Given the description of an element on the screen output the (x, y) to click on. 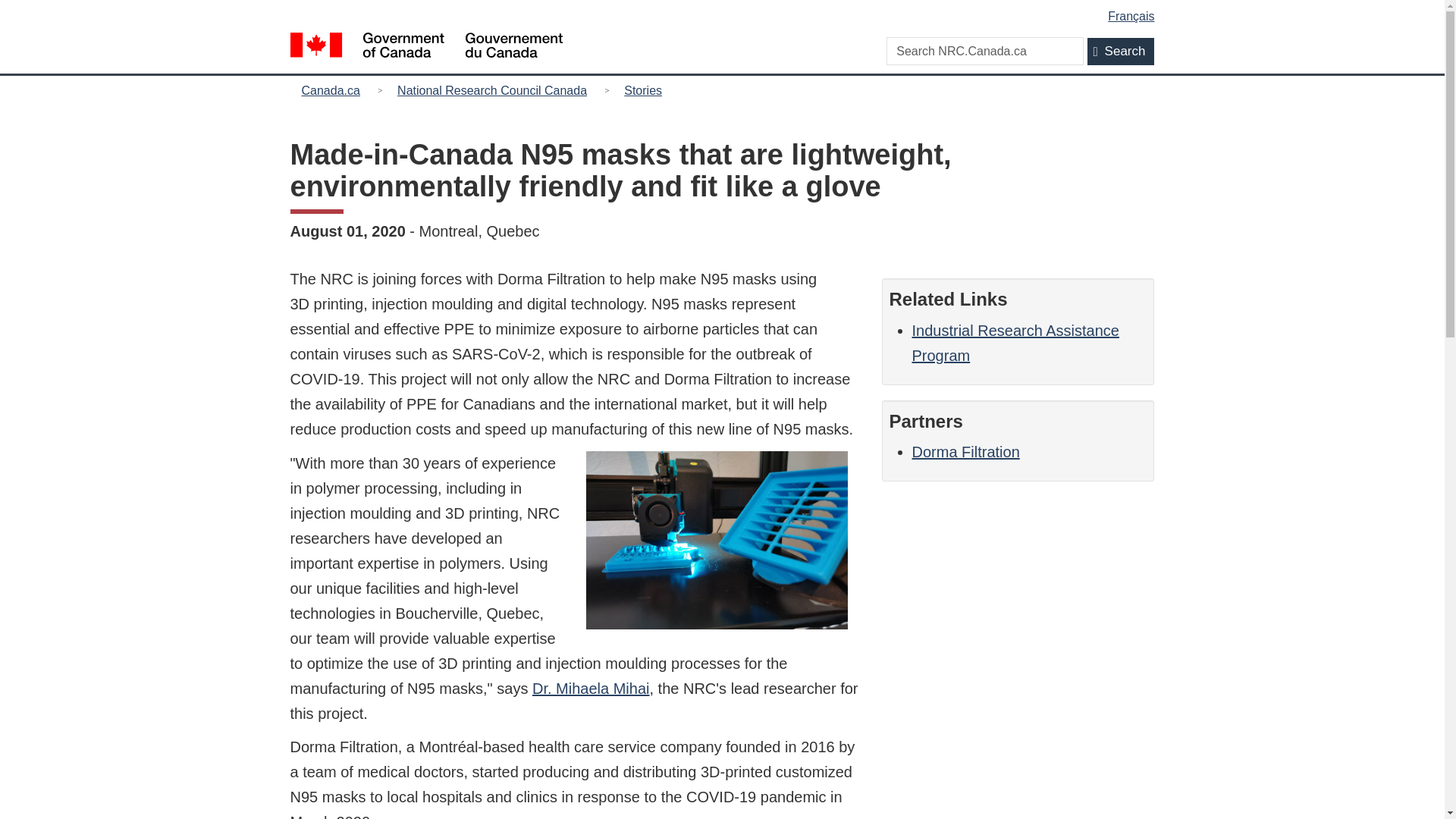
Dorma Filtration (965, 451)
Dr. Mihaela Mihai (590, 688)
National Research Council Canada (492, 90)
Skip to main content (725, 11)
Stories (642, 90)
Search (1120, 51)
Canada.ca (334, 90)
Industrial Research Assistance Program (1014, 342)
